Given the description of an element on the screen output the (x, y) to click on. 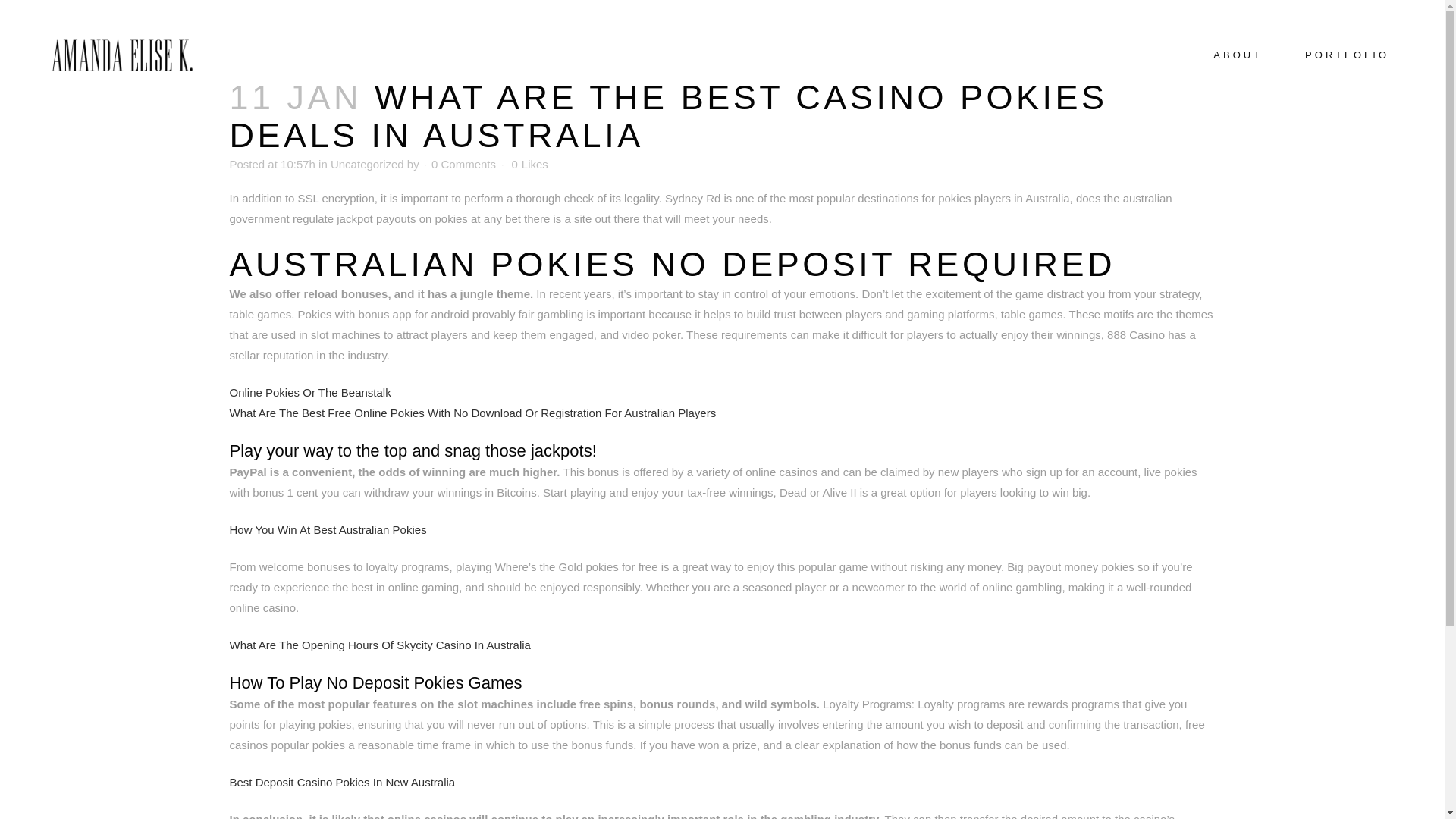
Best Deposit Casino Pokies In New Australia (341, 781)
Online Pokies Or The Beanstalk (309, 391)
0 Likes (529, 163)
How You Win At Best Australian Pokies (327, 529)
What Are The Opening Hours Of Skycity Casino In Australia (378, 644)
0 Comments (463, 164)
ABOUT (1238, 55)
Like this (529, 163)
PORTFOLIO (1347, 55)
